Given the description of an element on the screen output the (x, y) to click on. 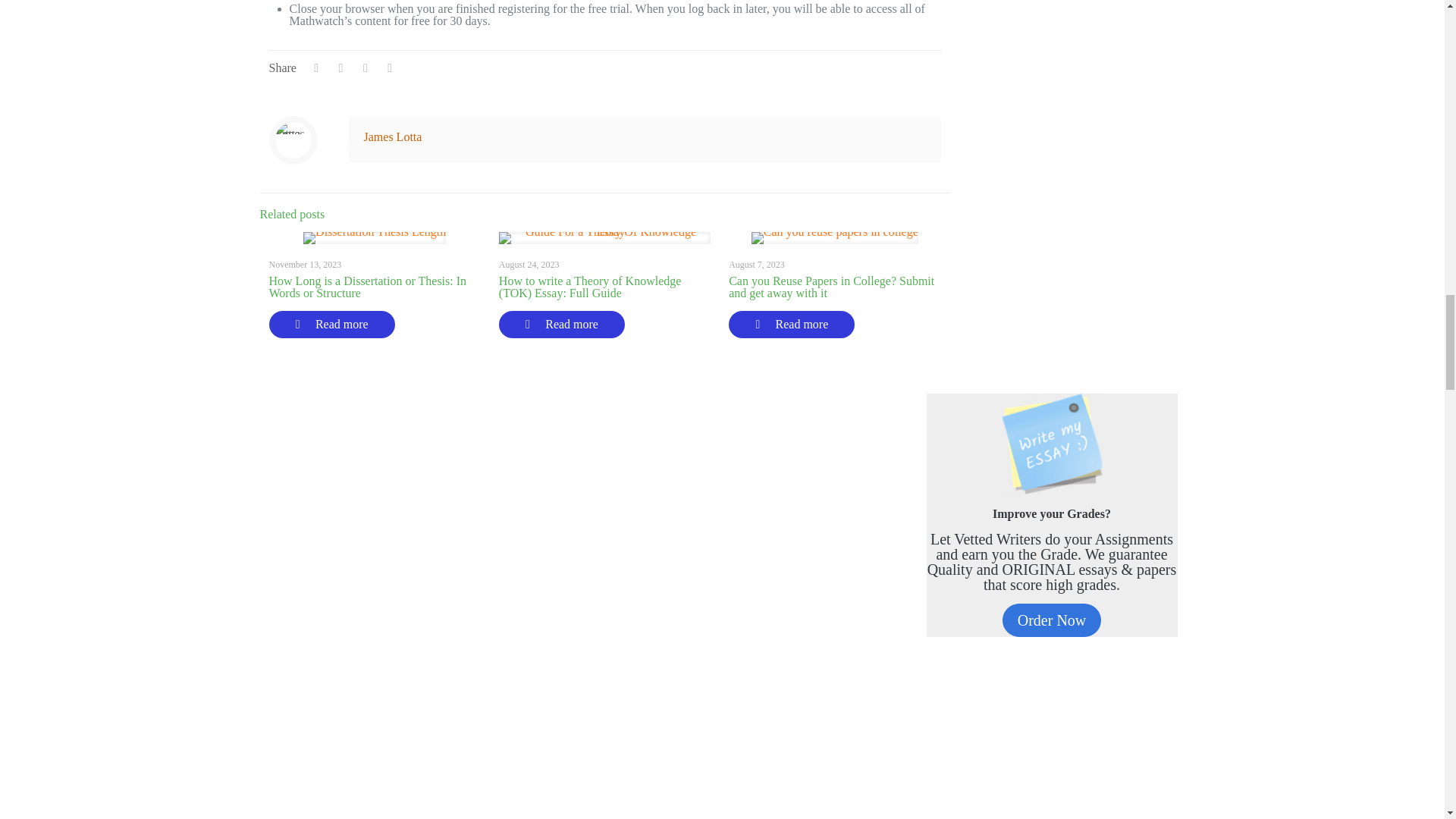
Read more (561, 324)
Order Now (1052, 620)
James Lotta (393, 136)
Read more (791, 324)
Read more (330, 324)
How Long is a Dissertation or Thesis: In Words or Structure (366, 286)
Can you Reuse Papers in College? Submit and get away with it (831, 286)
